Given the description of an element on the screen output the (x, y) to click on. 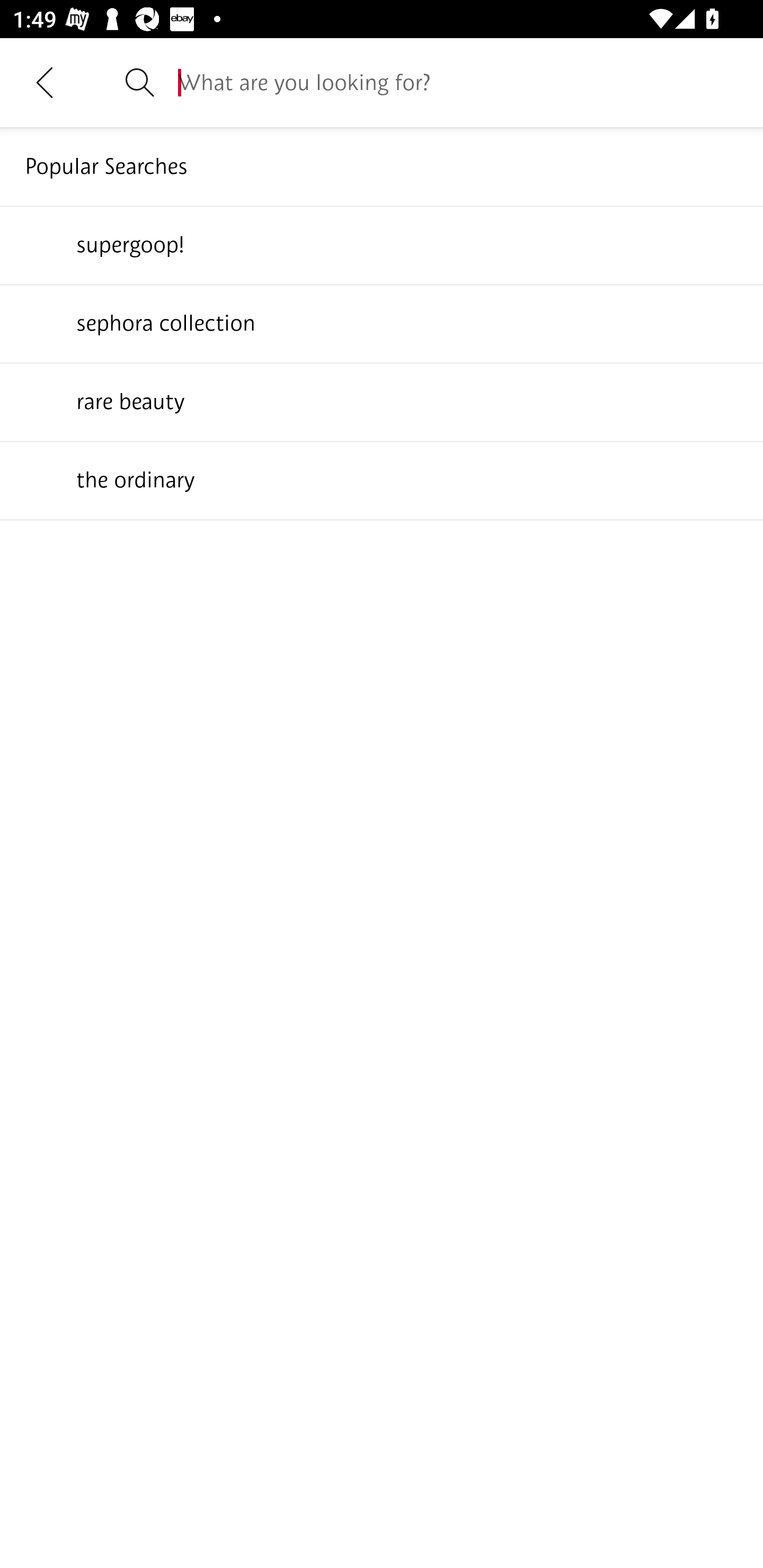
Navigate up (44, 82)
What are you looking for? (457, 82)
supergoop! (381, 244)
sephora collection (381, 322)
rare beauty (381, 401)
the ordinary (381, 479)
